Given the description of an element on the screen output the (x, y) to click on. 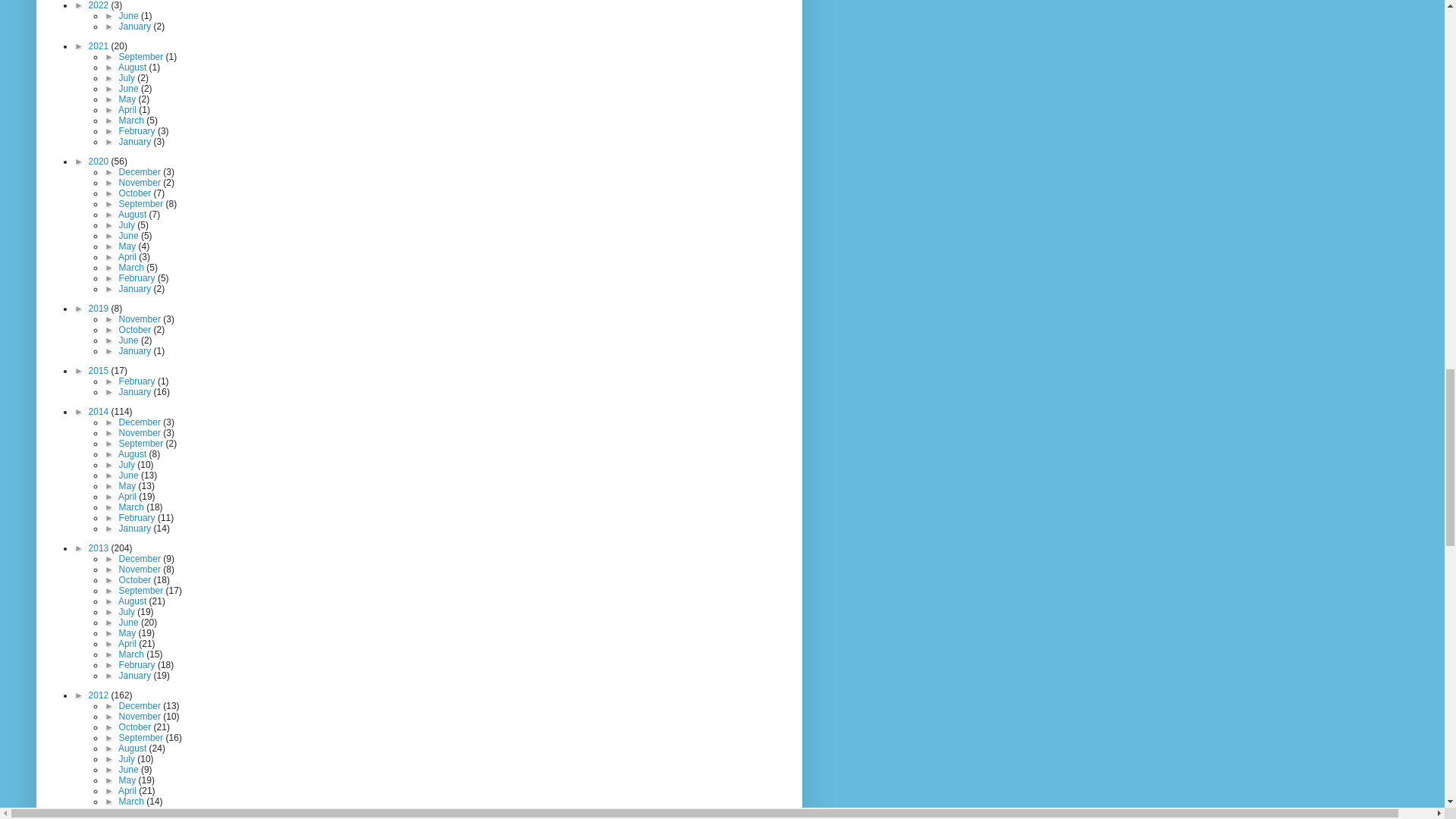
2022 (100, 5)
June (130, 15)
